Given the description of an element on the screen output the (x, y) to click on. 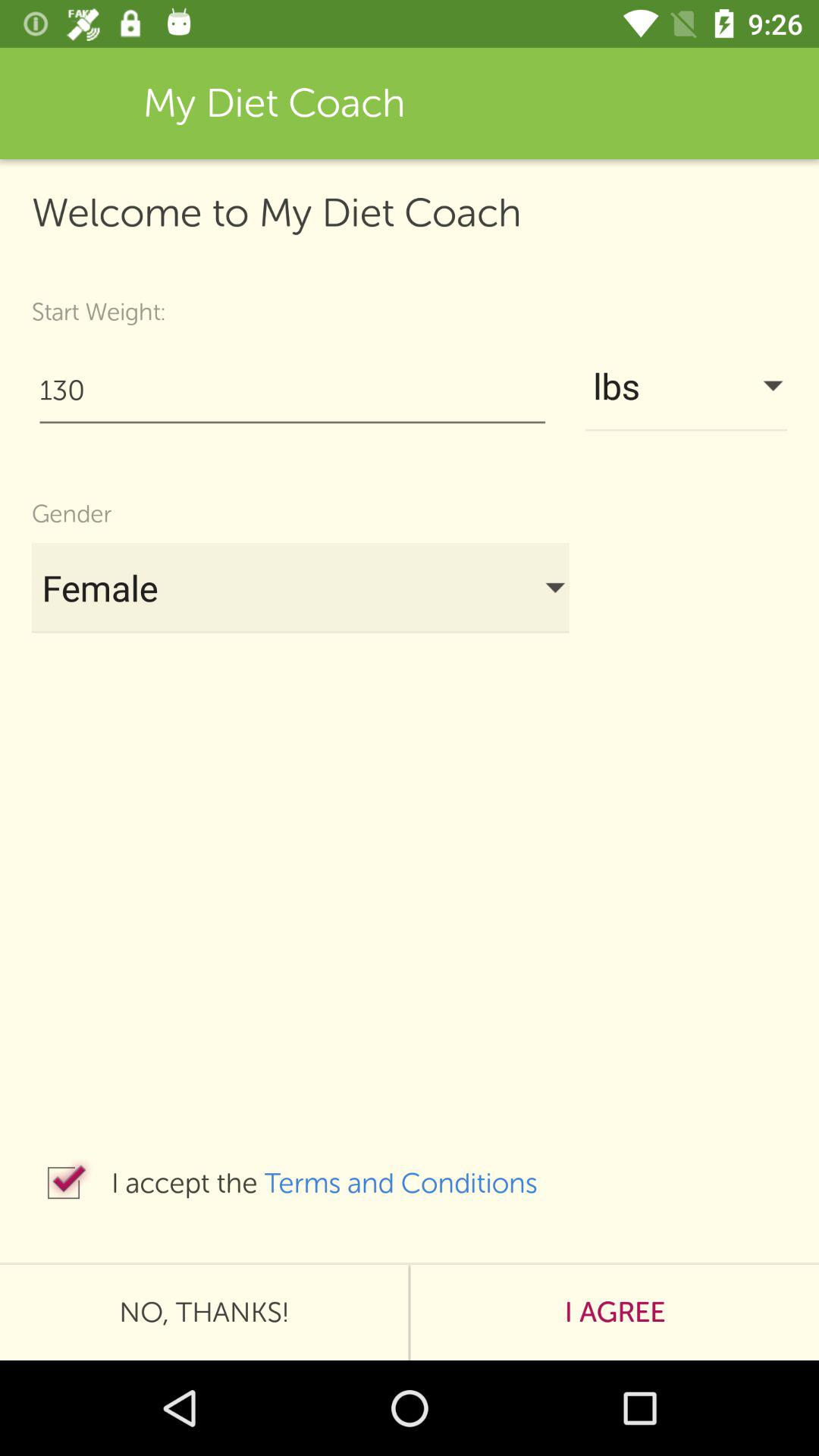
turn on item to the left of lbs (292, 389)
